Given the description of an element on the screen output the (x, y) to click on. 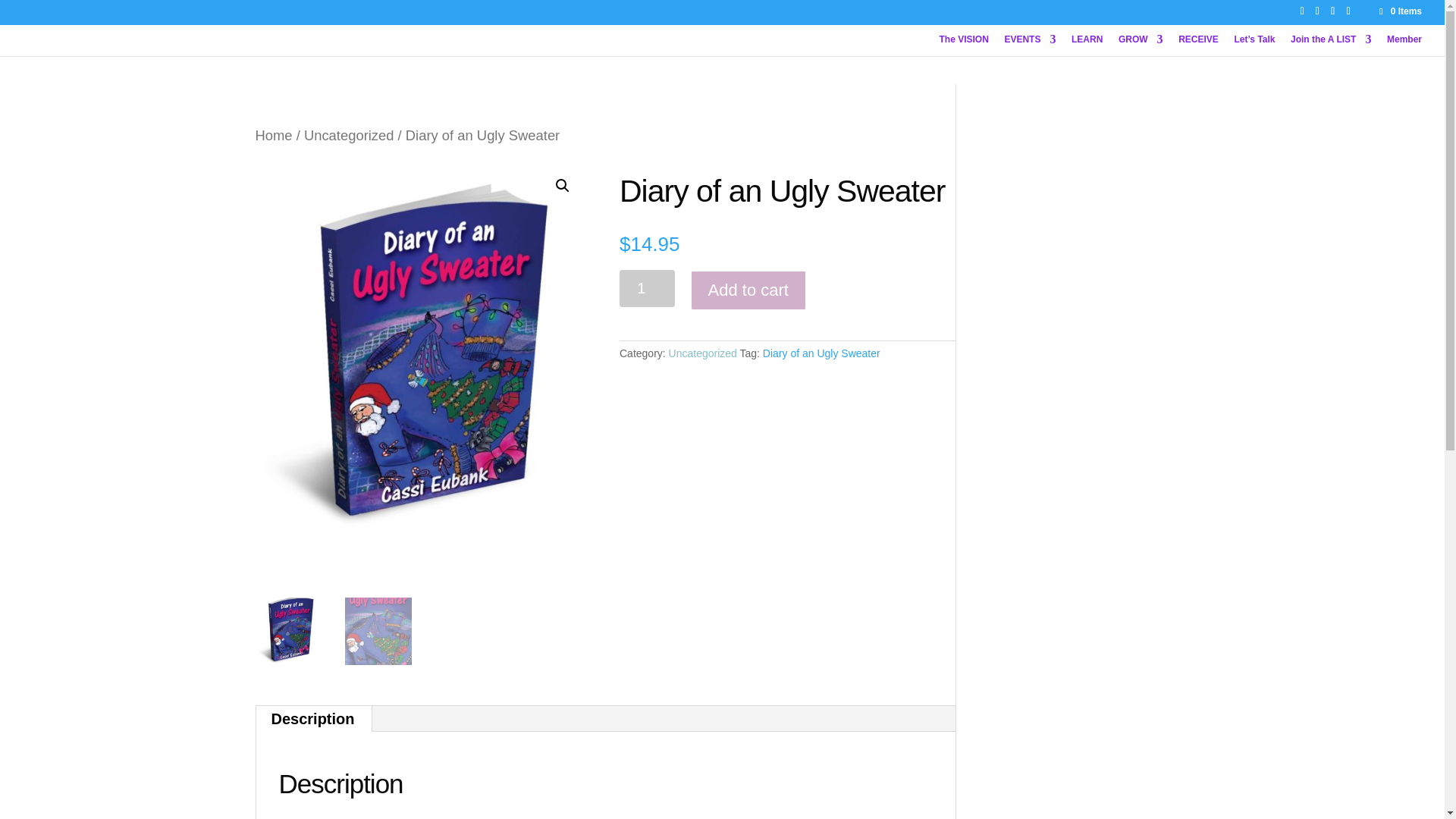
1 (647, 288)
LEARN (1086, 45)
GROW (1140, 45)
Member (1404, 45)
Join the A LIST (1330, 45)
RECEIVE (1197, 45)
Qty (647, 288)
The VISION (963, 45)
EVENTS (1029, 45)
0 Items (1399, 10)
